Given the description of an element on the screen output the (x, y) to click on. 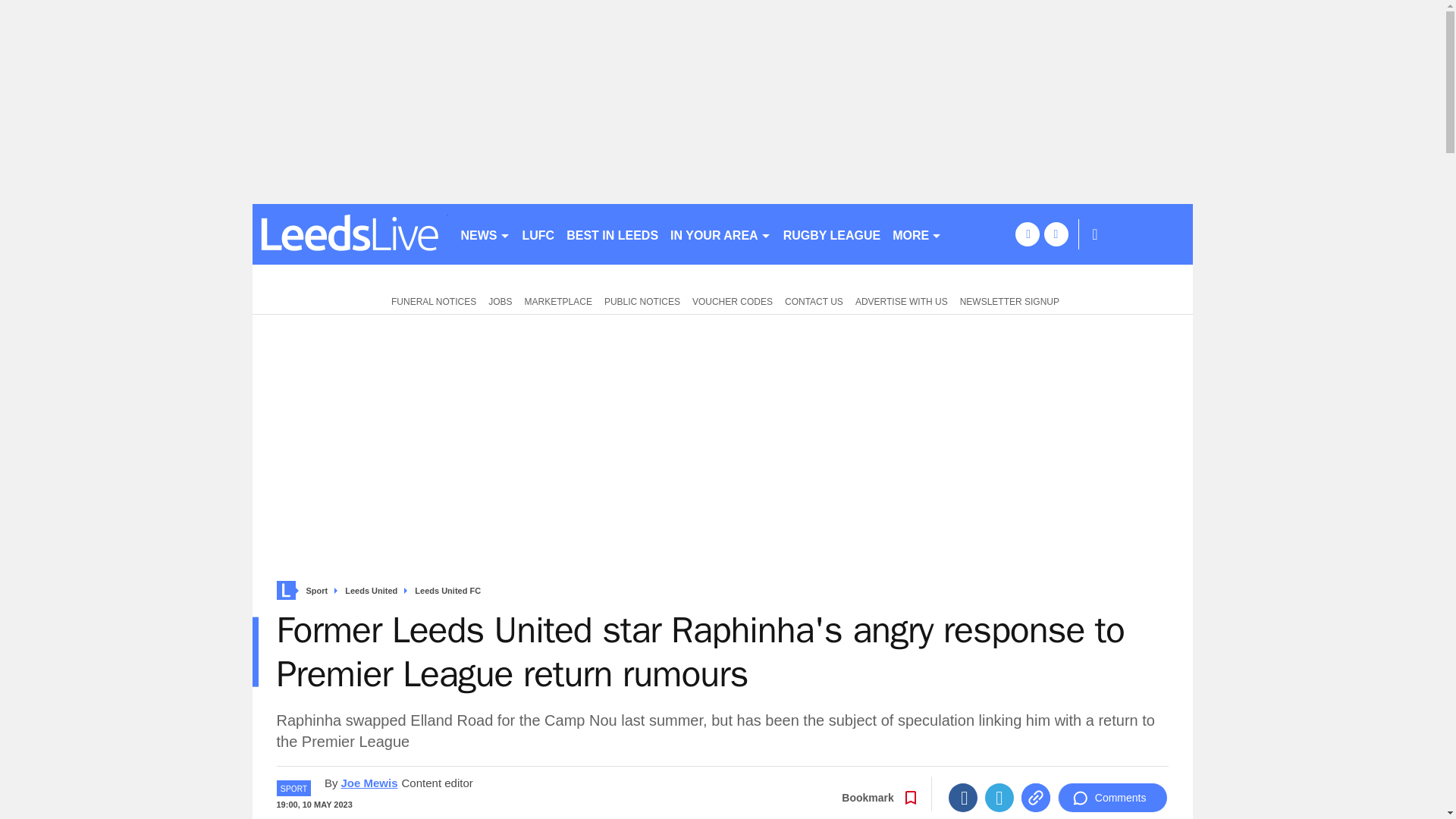
FUNERAL NOTICES (429, 300)
MARKETPLACE (558, 300)
NEWS (485, 233)
leedslive (348, 233)
NEWSLETTER SIGNUP (1009, 300)
IN YOUR AREA (720, 233)
Twitter (999, 797)
twitter (1055, 233)
JOBS (499, 300)
VOUCHER CODES (731, 300)
